Given the description of an element on the screen output the (x, y) to click on. 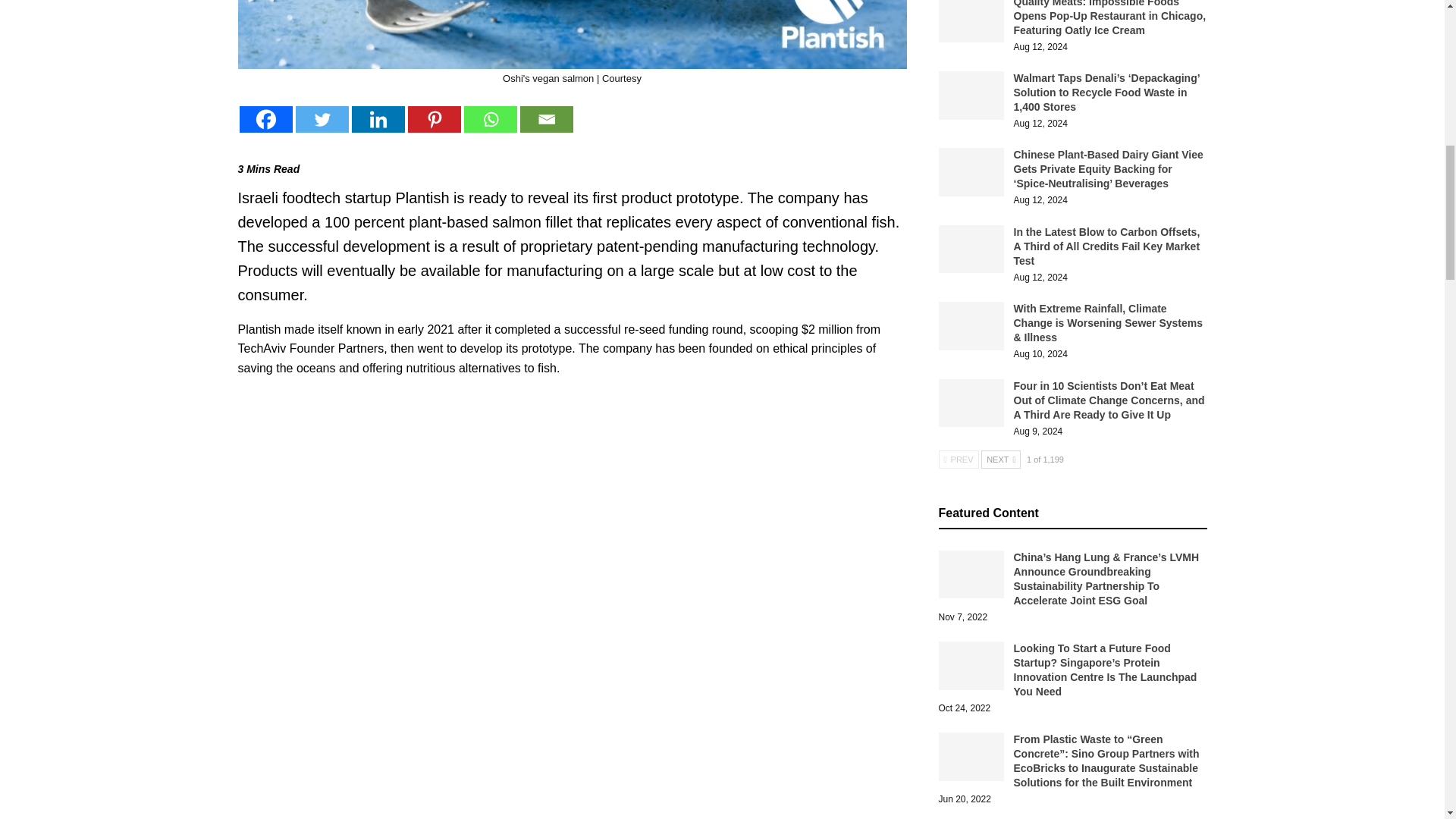
Email (546, 119)
Pinterest (434, 119)
Twitter (322, 119)
Whatsapp (490, 119)
Linkedin (378, 119)
Facebook (266, 119)
